Given the description of an element on the screen output the (x, y) to click on. 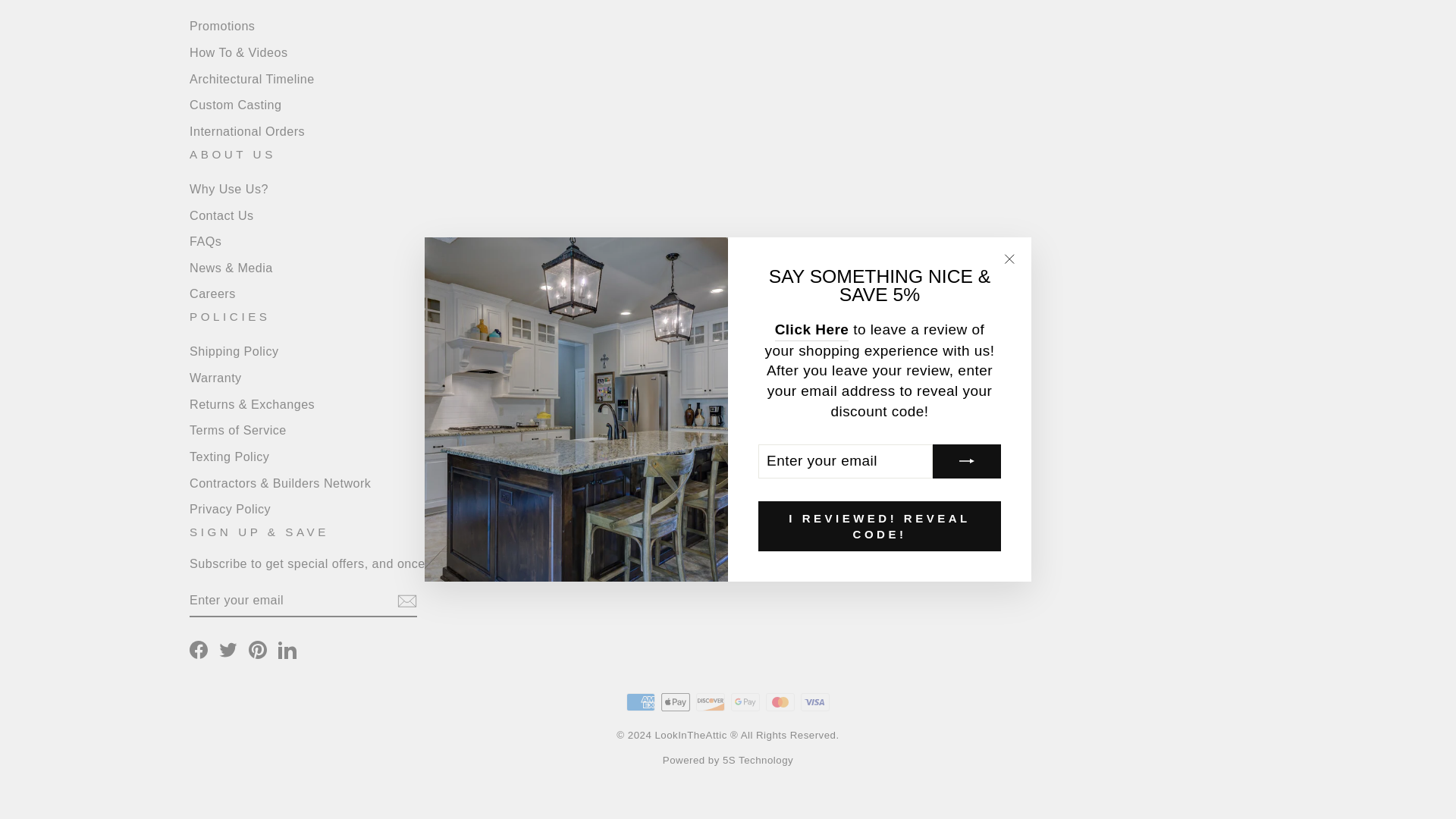
Visa (814, 701)
Mastercard (779, 701)
Google Pay (745, 701)
Discover (710, 701)
American Express (640, 701)
Apple Pay (675, 701)
